Given the description of an element on the screen output the (x, y) to click on. 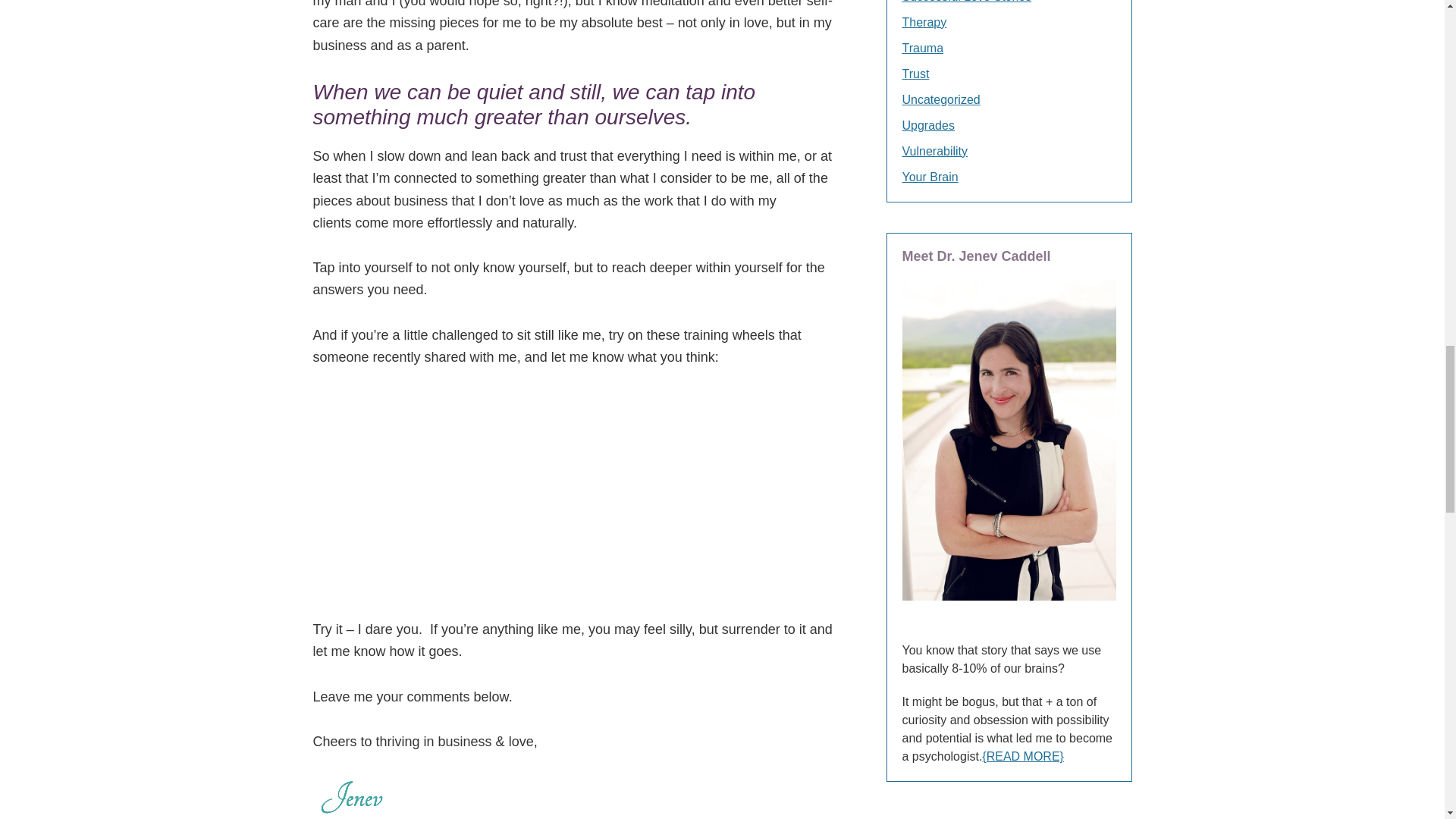
YouTube player (579, 493)
